Given the description of an element on the screen output the (x, y) to click on. 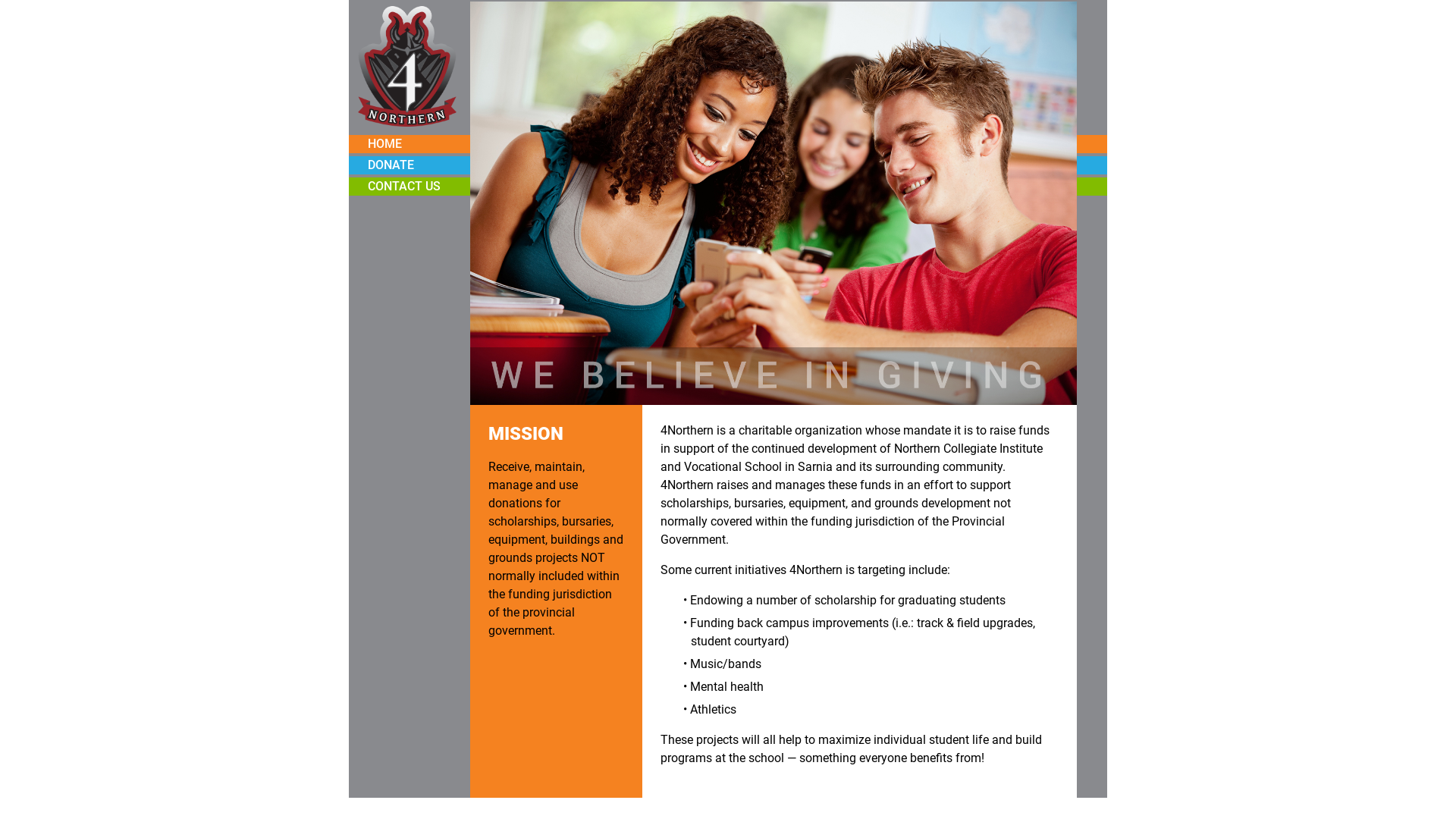
CONTACT US Element type: text (403, 185)
DONATE Element type: text (390, 164)
HOME Element type: text (384, 143)
